Given the description of an element on the screen output the (x, y) to click on. 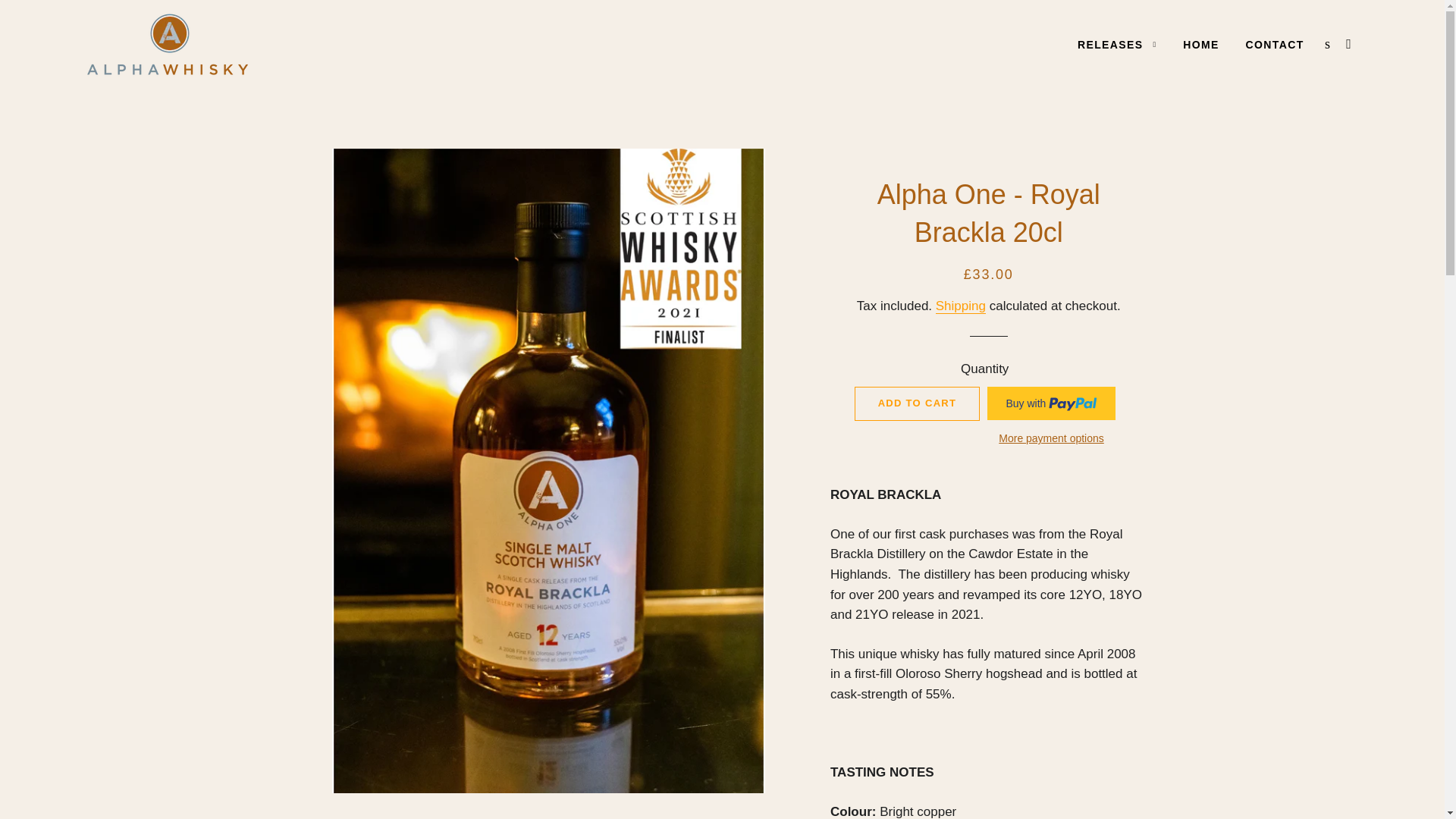
More payment options (1051, 438)
ADD TO CART (916, 403)
Shipping (960, 305)
RELEASES (1117, 45)
HOME (1201, 45)
CONTACT (1275, 45)
CART (1349, 44)
SEARCH (1327, 44)
